Given the description of an element on the screen output the (x, y) to click on. 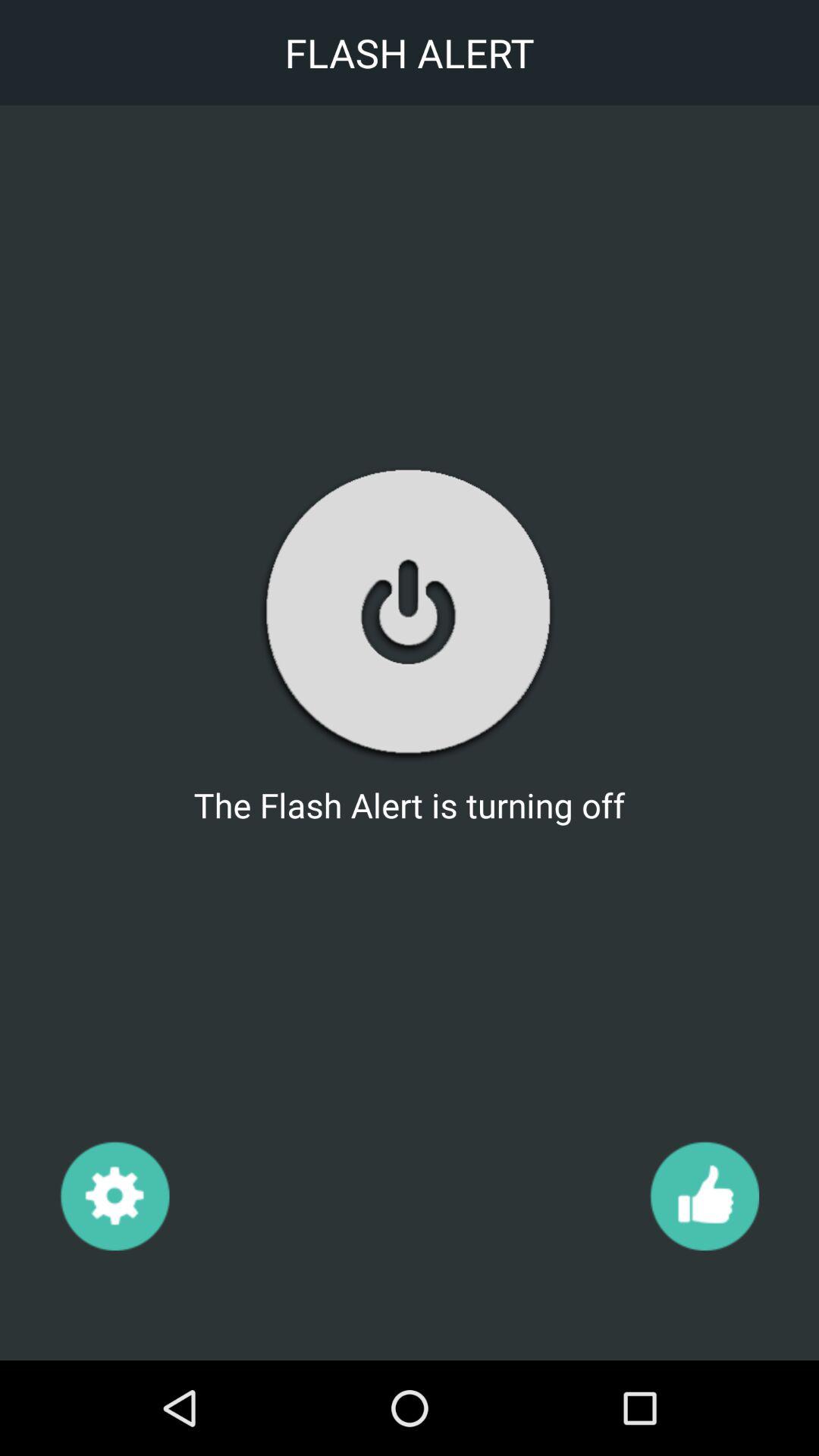
open settings (114, 1195)
